Given the description of an element on the screen output the (x, y) to click on. 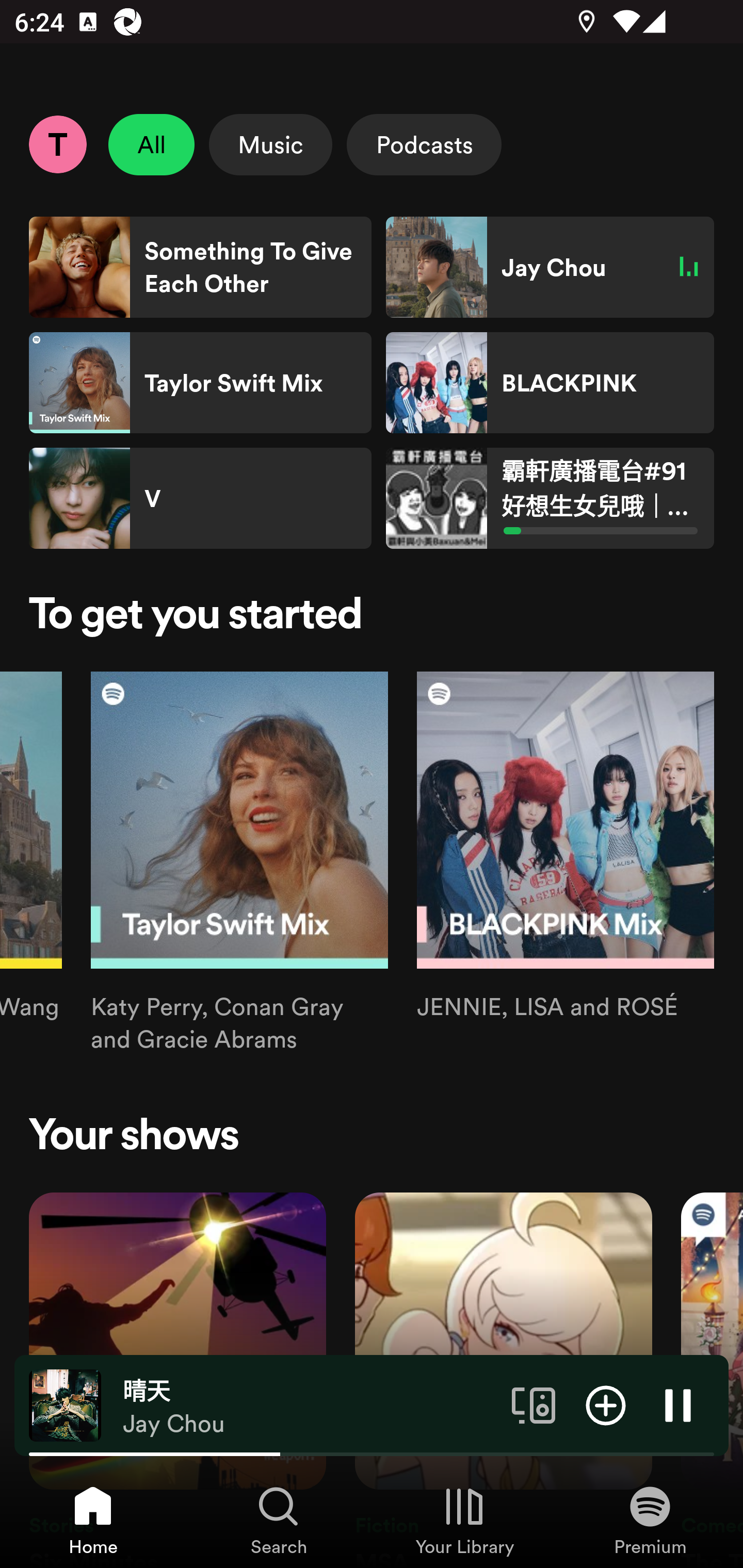
Profile (57, 144)
All Unselect All (151, 144)
Music Select Music (270, 144)
Podcasts Select Podcasts (423, 144)
Jay Chou Shortcut Jay Chou Playing (549, 267)
Taylor Swift Mix Shortcut Taylor Swift Mix (199, 382)
BLACKPINK Shortcut BLACKPINK (549, 382)
V Shortcut V (199, 498)
晴天 Jay Chou (309, 1405)
The cover art of the currently playing track (64, 1404)
Connect to a device. Opens the devices menu (533, 1404)
Add item (605, 1404)
Pause (677, 1404)
Home, Tab 1 of 4 Home Home (92, 1519)
Search, Tab 2 of 4 Search Search (278, 1519)
Your Library, Tab 3 of 4 Your Library Your Library (464, 1519)
Premium, Tab 4 of 4 Premium Premium (650, 1519)
